Given the description of an element on the screen output the (x, y) to click on. 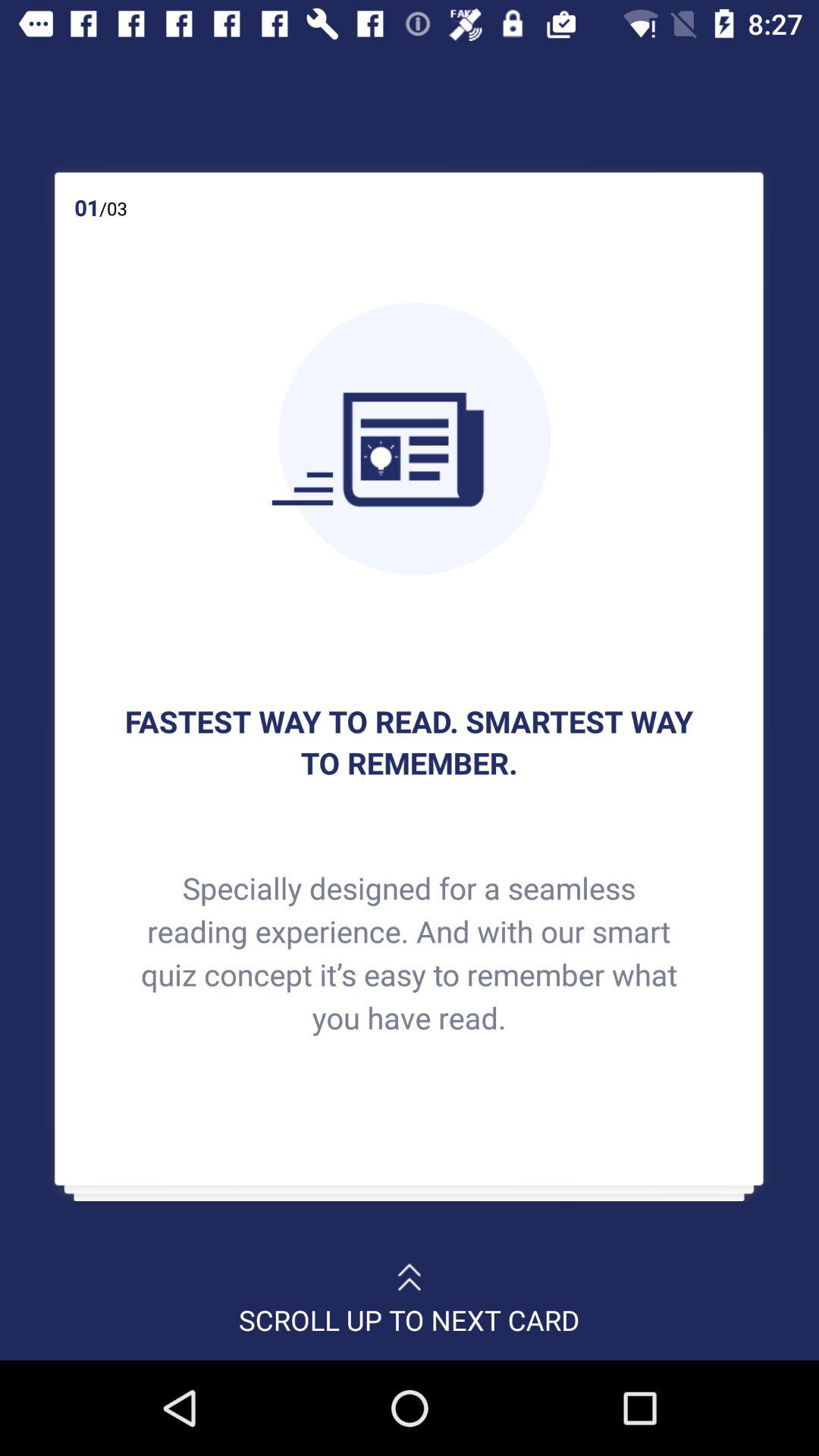
click on the image at the center (408, 438)
click on caret symbol which is above scroll up to next card (409, 1269)
